Given the description of an element on the screen output the (x, y) to click on. 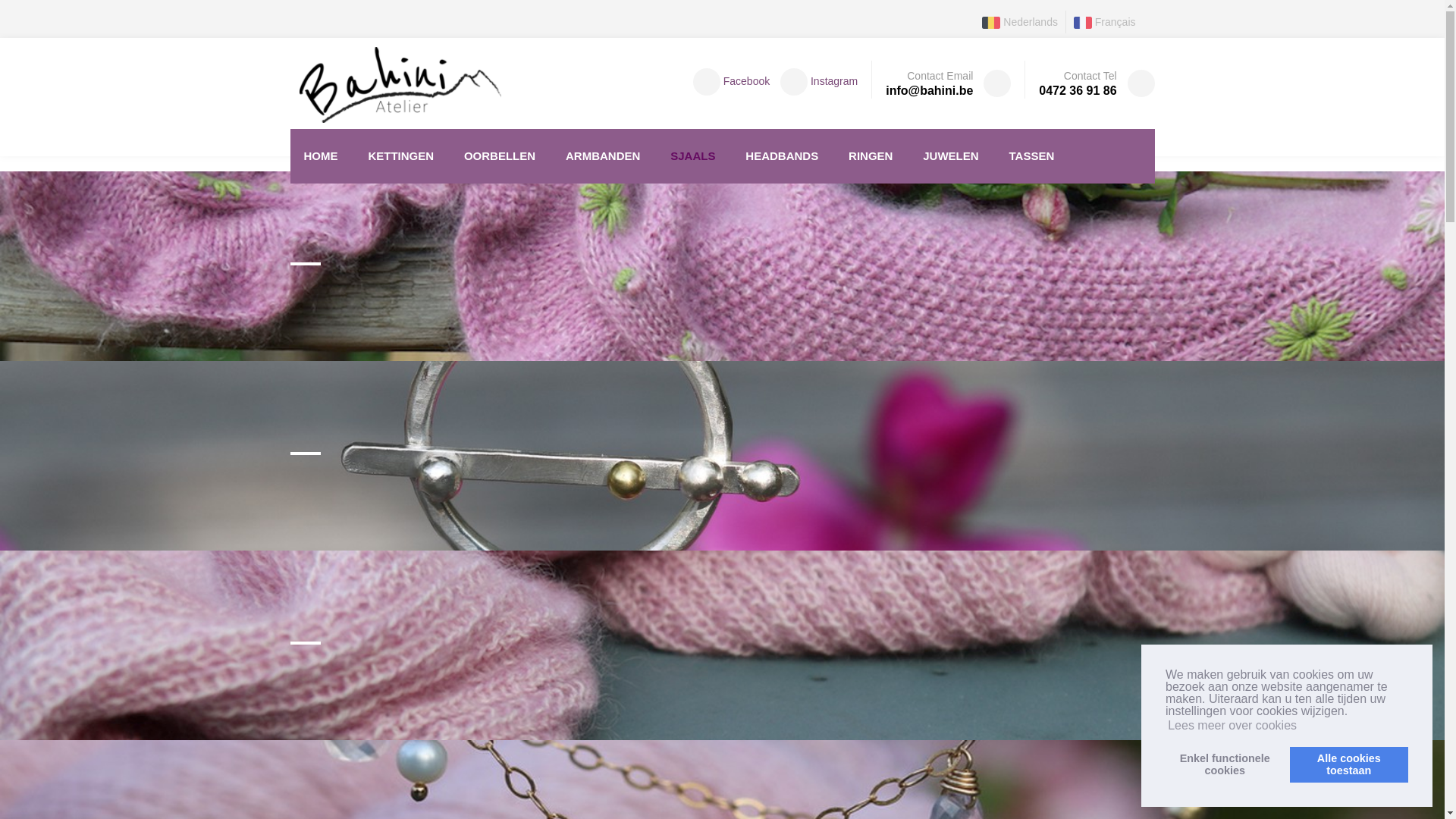
JUWELEN Element type: text (950, 155)
HOME Element type: text (320, 155)
TASSEN Element type: text (1031, 155)
KETTINGEN Element type: text (400, 155)
  Instagram Element type: text (814, 81)
info@bahini.be Element type: text (928, 90)
ARMBANDEN Element type: text (602, 155)
Enkel functionele
cookies Element type: text (1224, 764)
OORBELLEN Element type: text (499, 155)
HEADBANDS Element type: text (781, 155)
Lees meer over cookies Element type: text (1232, 725)
RINGEN Element type: text (870, 155)
  Facebook Element type: text (728, 81)
Nederlands Element type: text (1019, 21)
Alle cookies
toestaan Element type: text (1348, 764)
SJAALS Element type: text (692, 155)
